Given the description of an element on the screen output the (x, y) to click on. 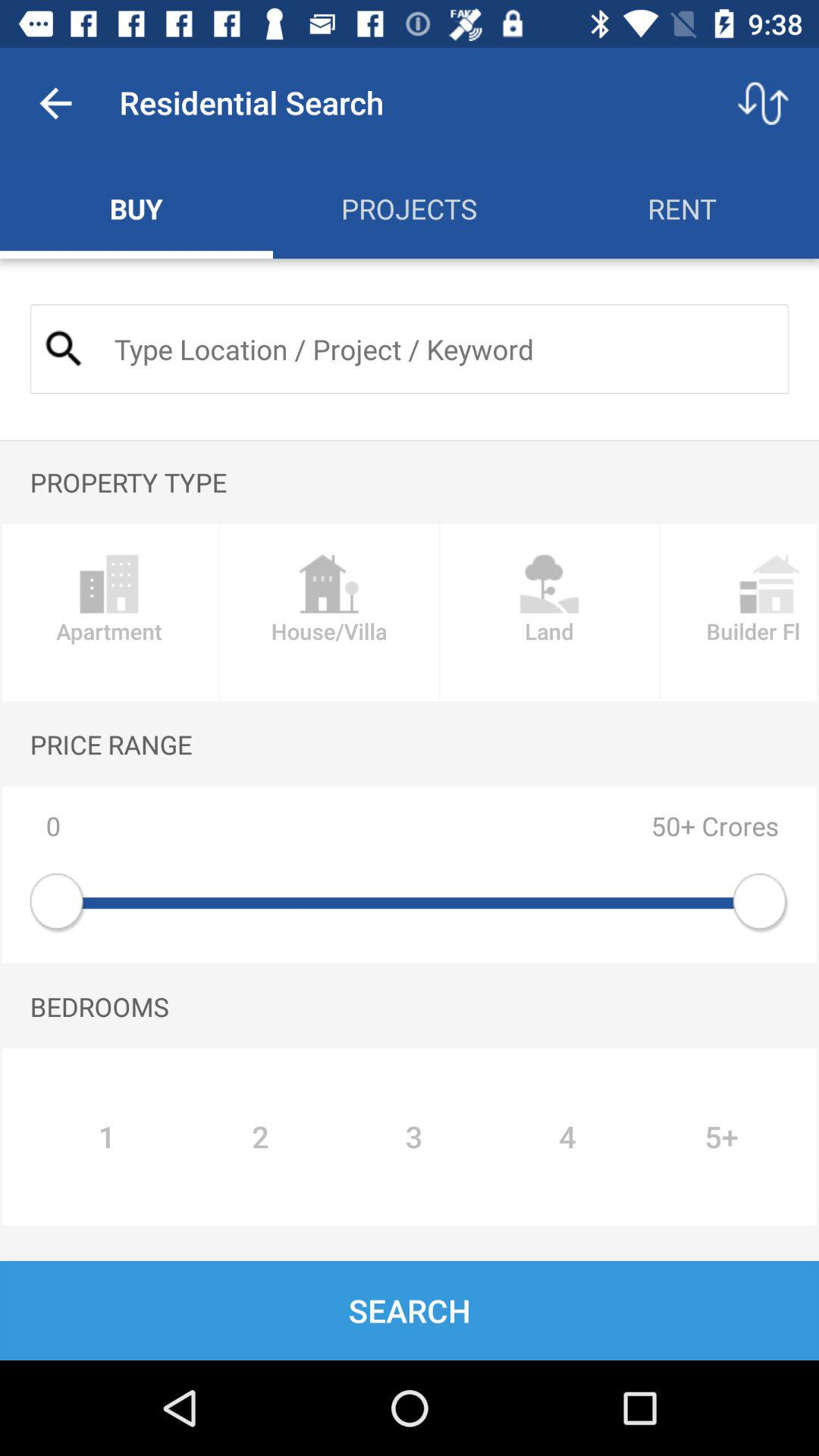
location field (438, 349)
